Given the description of an element on the screen output the (x, y) to click on. 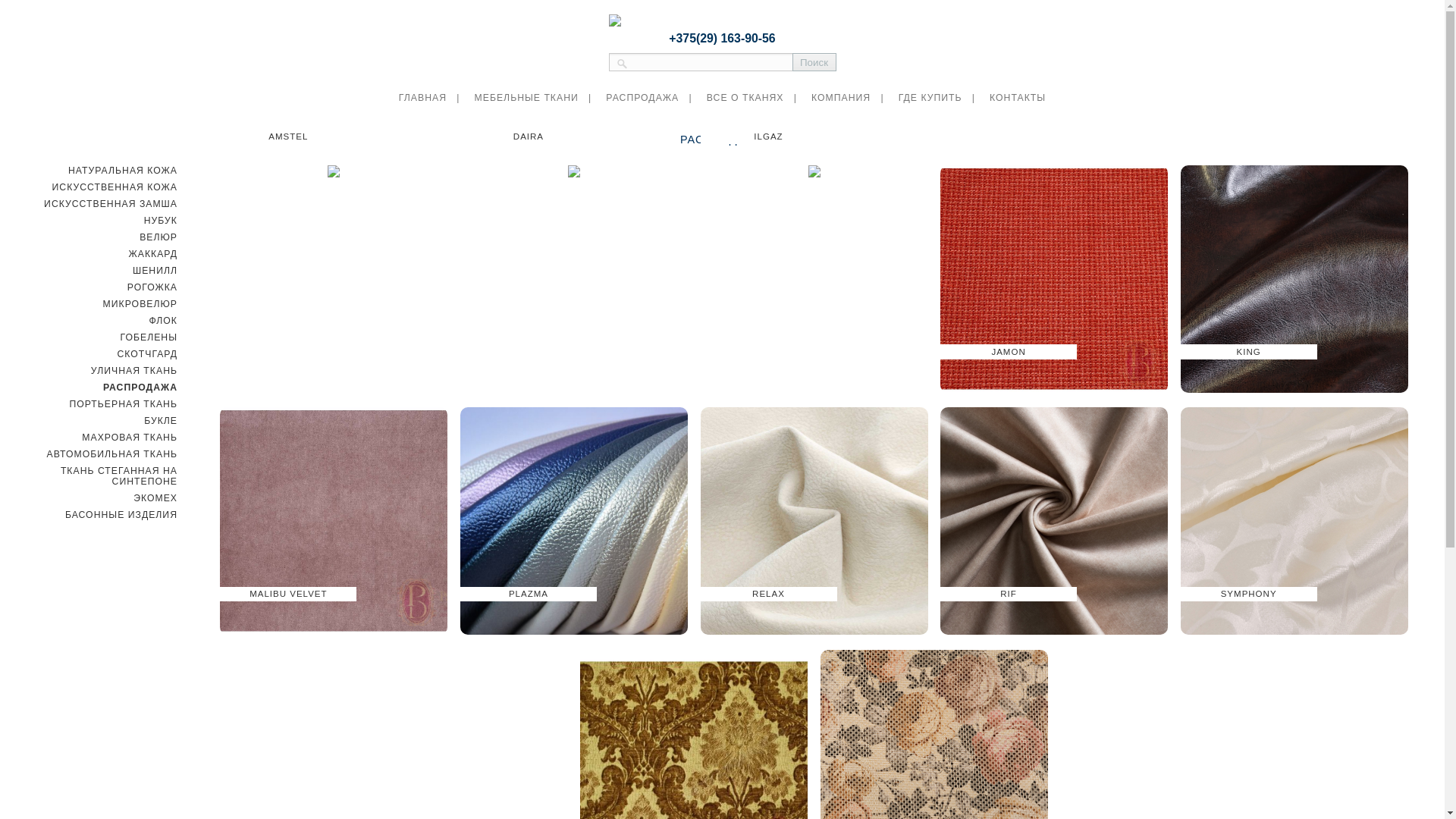
RELAX Element type: text (813, 637)
PLAZMA Element type: text (574, 637)
ILGAZ Element type: text (813, 395)
RIF Element type: text (1054, 637)
JAMON Element type: text (1054, 395)
+375(29) 163-90-56 Element type: text (721, 37)
DAIRA Element type: text (574, 395)
MALIBU VELVET Element type: text (333, 637)
KING Element type: text (1293, 395)
AMSTEL Element type: text (333, 395)
SYMPHONY Element type: text (1293, 637)
